Given the description of an element on the screen output the (x, y) to click on. 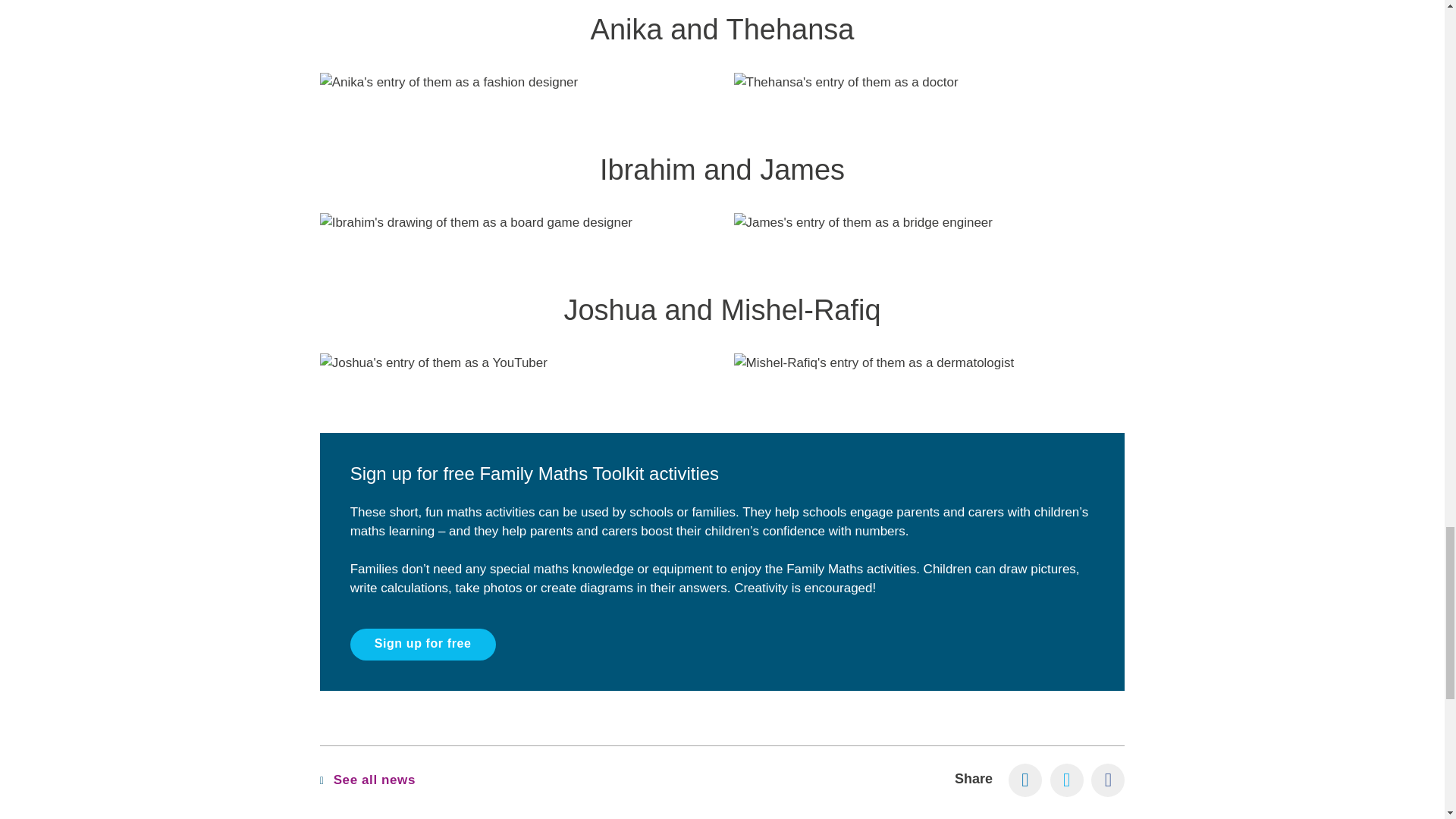
Twitter (1066, 779)
LinkedIn (1025, 779)
Facebook (1107, 779)
